Given the description of an element on the screen output the (x, y) to click on. 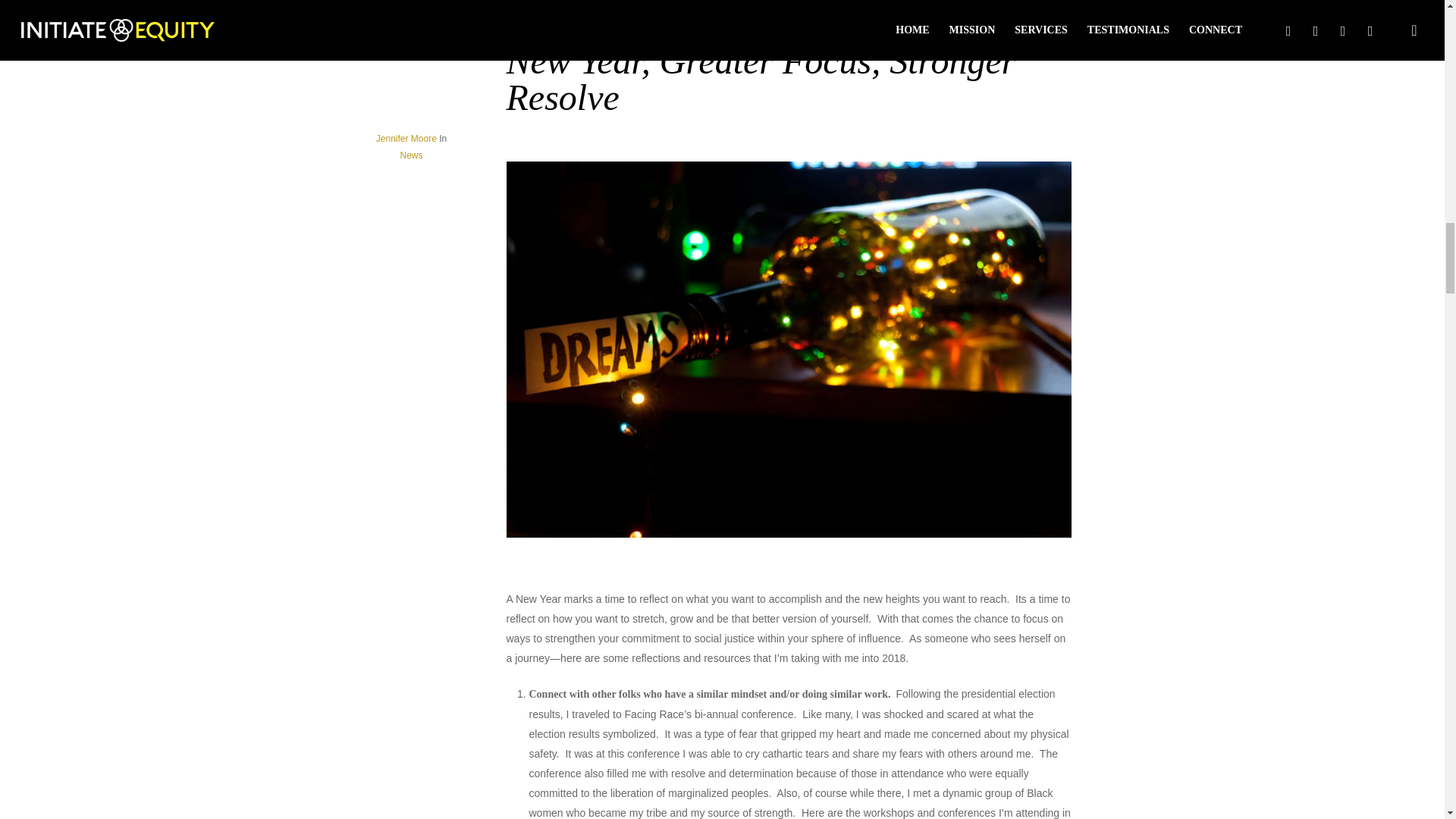
New Year, Greater Focus, Stronger Resolve (761, 78)
Jennifer Moore (405, 138)
News (410, 154)
Posts by Jennifer Moore (405, 138)
